Given the description of an element on the screen output the (x, y) to click on. 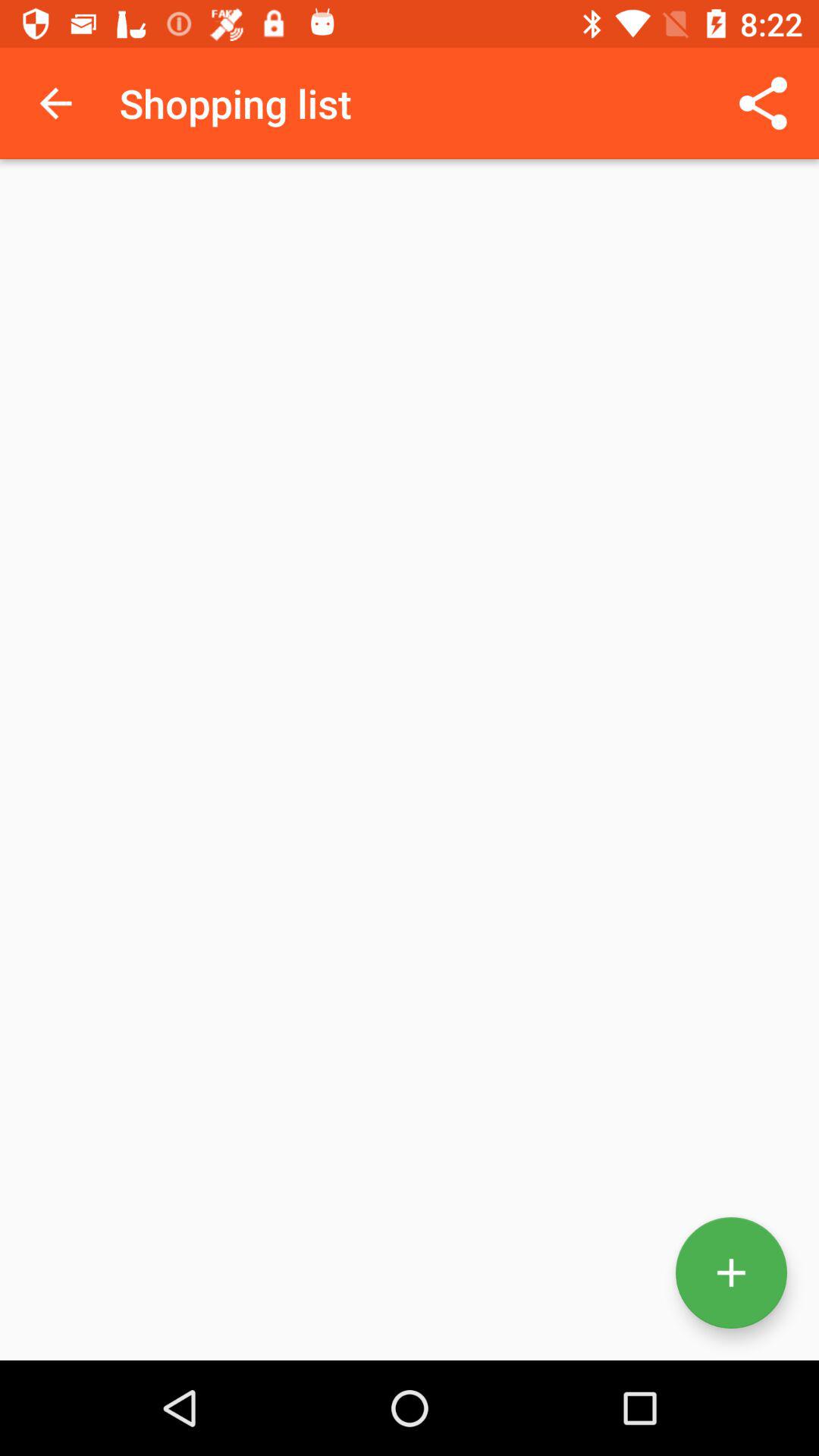
click item next to shopping list icon (55, 103)
